Given the description of an element on the screen output the (x, y) to click on. 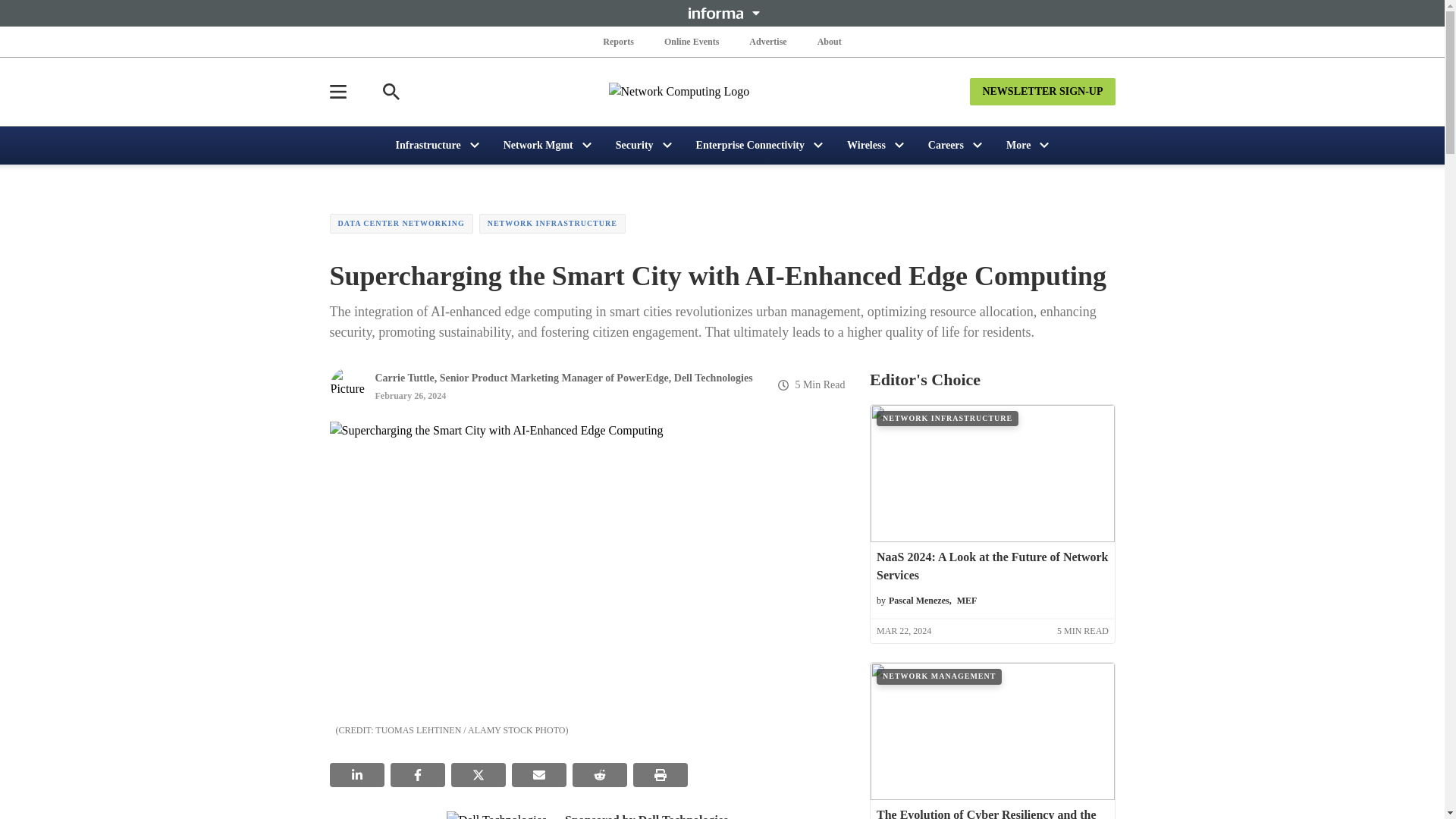
Dell Technologies (496, 815)
Reports (618, 41)
NEWSLETTER SIGN-UP (1042, 90)
Network Computing Logo (721, 91)
About (828, 41)
Advertise (767, 41)
Online Events (691, 41)
